Given the description of an element on the screen output the (x, y) to click on. 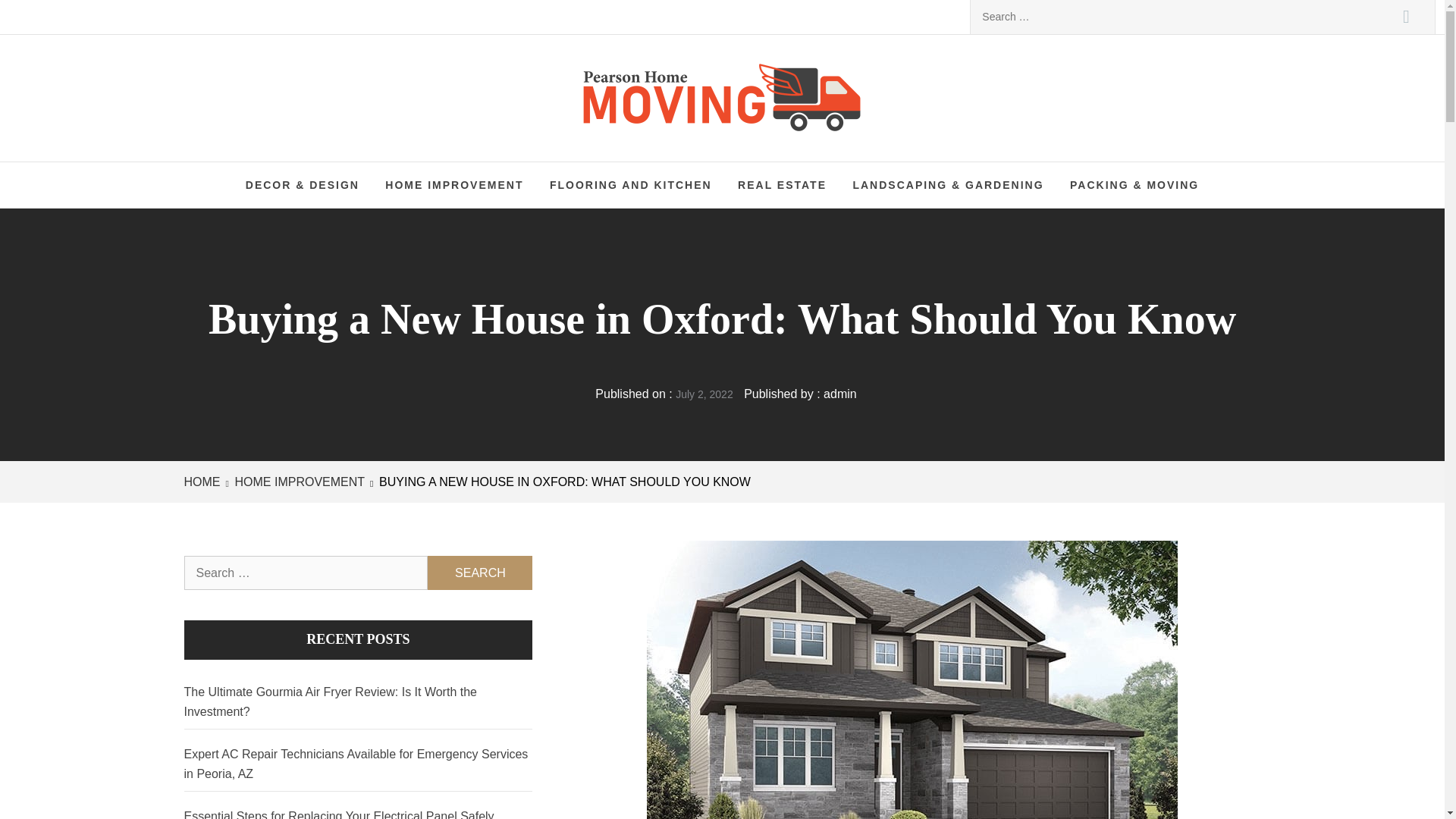
Search (480, 572)
Search (480, 572)
Search (1405, 17)
REAL ESTATE (782, 185)
BUYING A NEW HOUSE IN OXFORD: WHAT SHOULD YOU KNOW (562, 481)
HOME (204, 481)
Pearson Home Moving (800, 90)
FLOORING AND KITCHEN (630, 185)
HOME IMPROVEMENT (298, 481)
admin (840, 393)
HOME IMPROVEMENT (454, 185)
Search (480, 572)
Search (1405, 17)
